Given the description of an element on the screen output the (x, y) to click on. 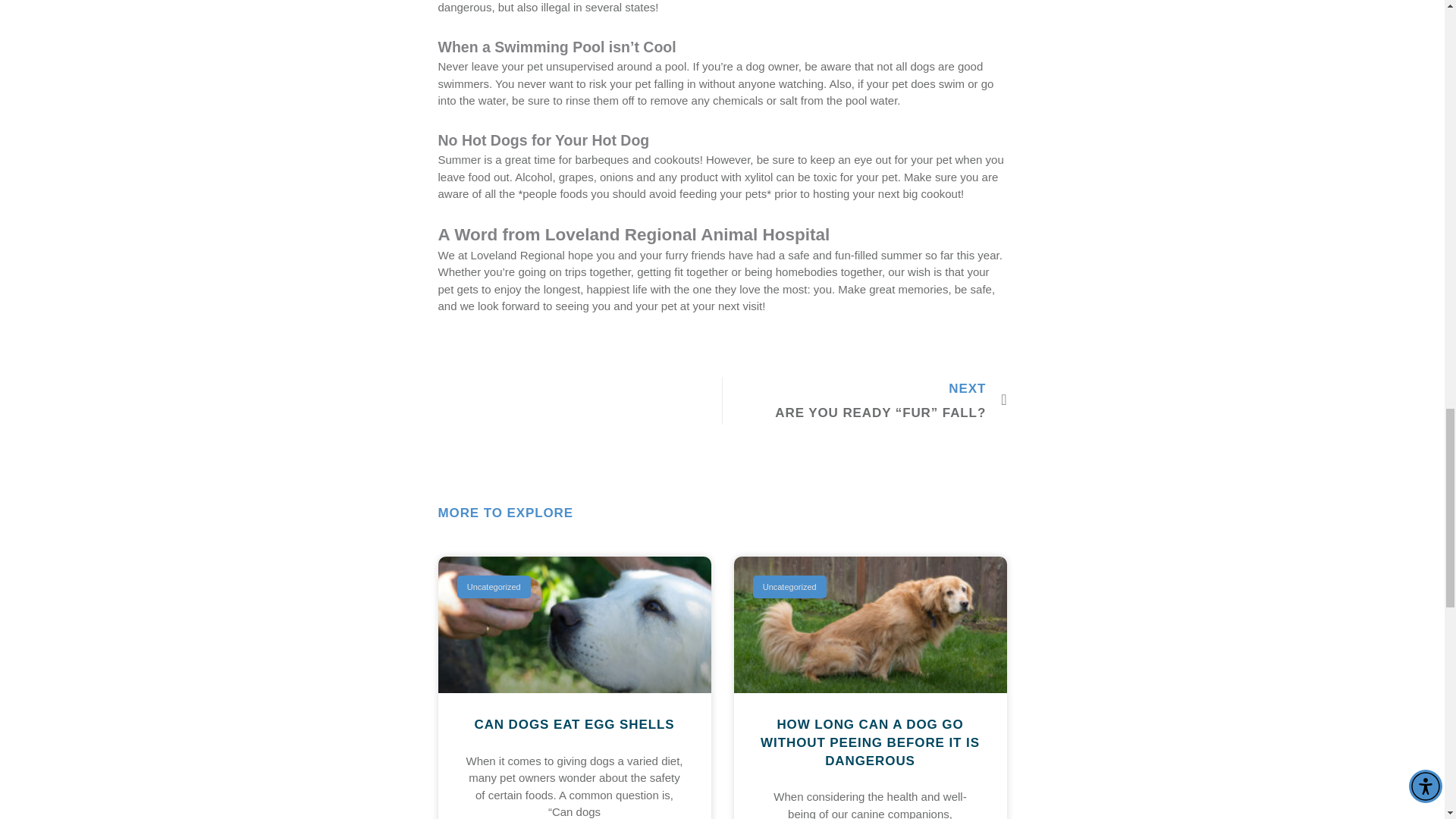
HOW LONG CAN A DOG GO WITHOUT PEEING BEFORE IT IS DANGEROUS (869, 742)
CAN DOGS EAT EGG SHELLS (574, 724)
